Given the description of an element on the screen output the (x, y) to click on. 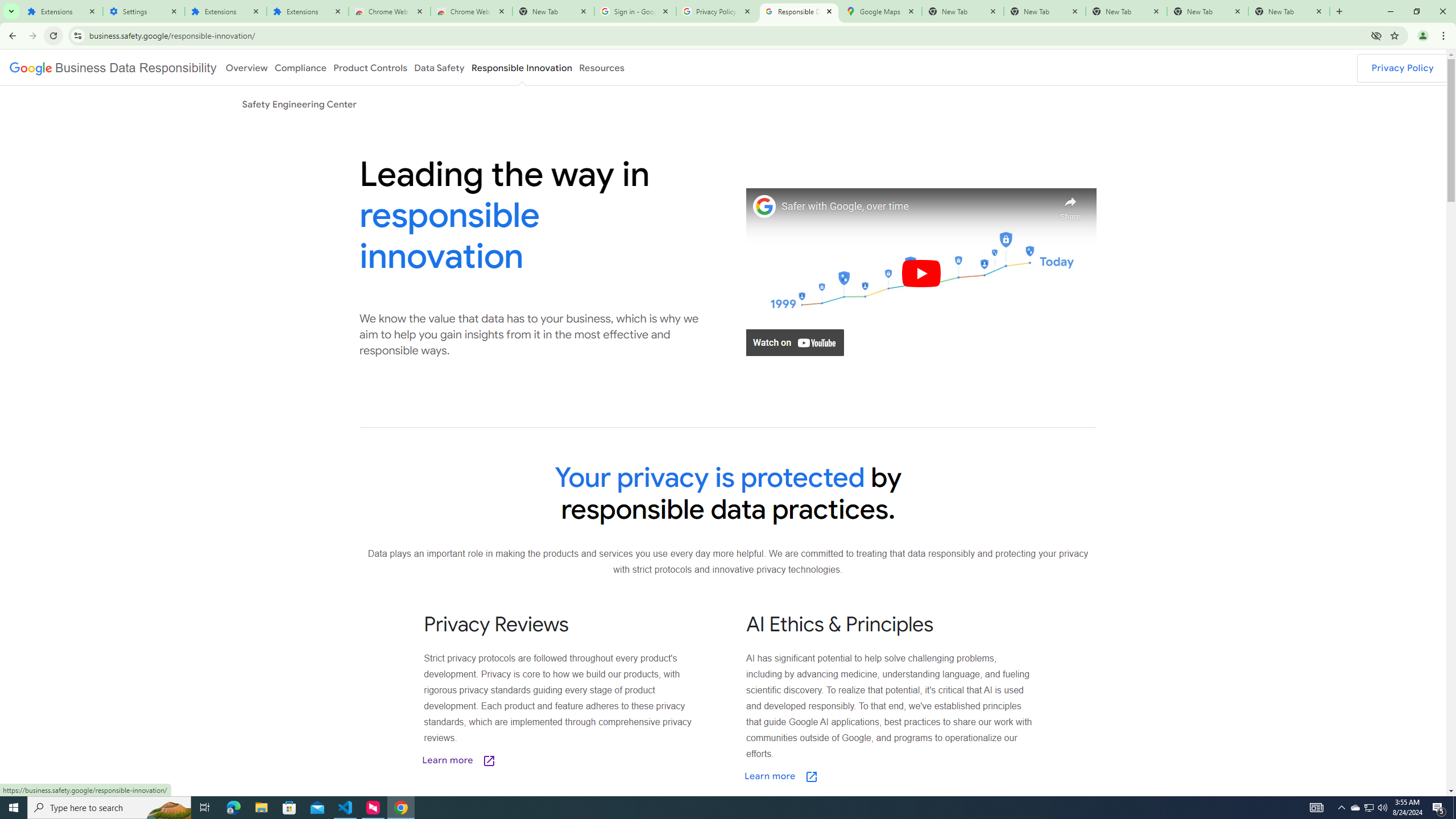
Chrome Web Store (389, 11)
